Given the description of an element on the screen output the (x, y) to click on. 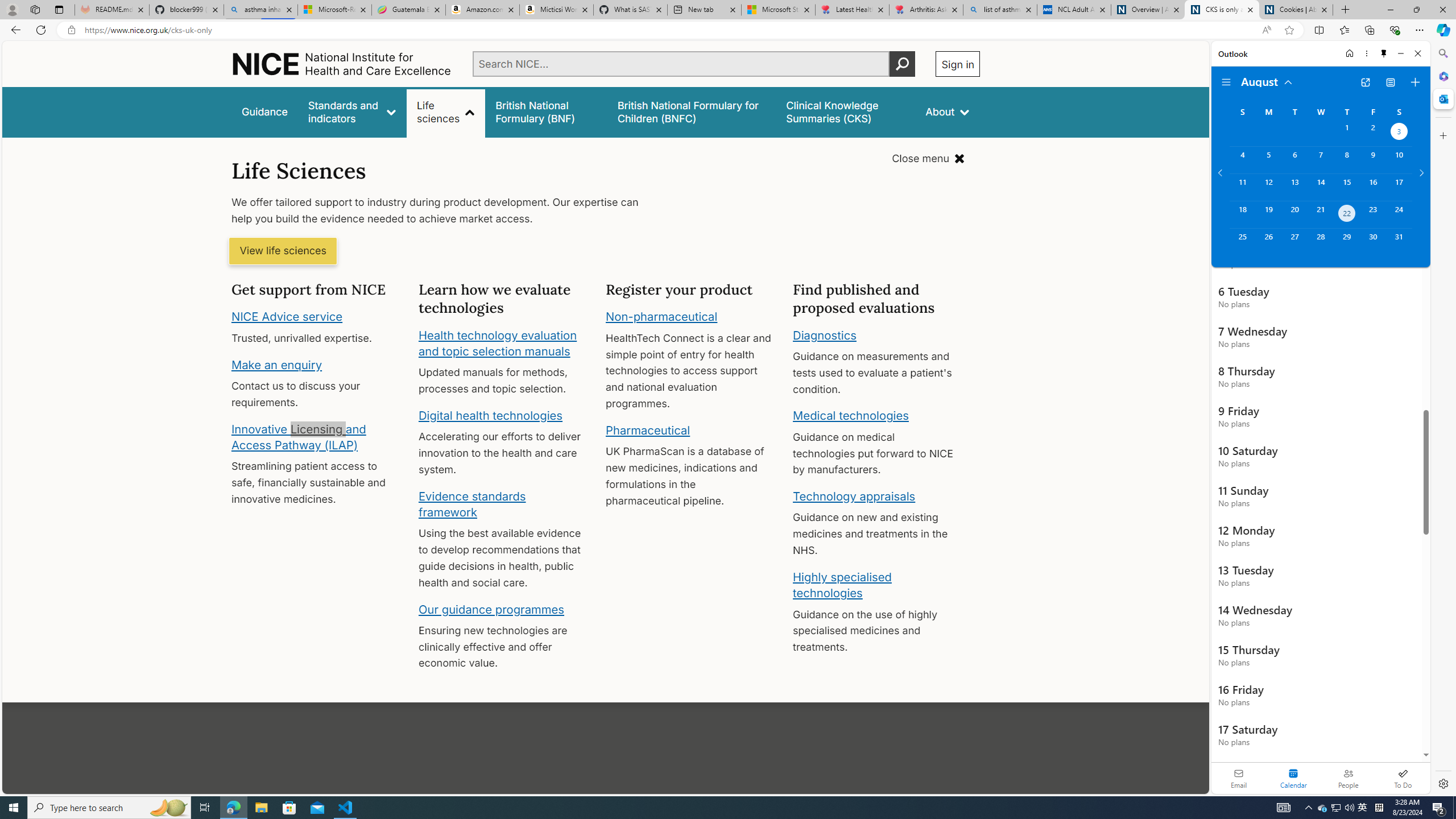
Friday, August 30, 2024.  (1372, 241)
About (947, 111)
Saturday, August 10, 2024.  (1399, 159)
Friday, August 16, 2024.  (1372, 186)
More options (1366, 53)
Guidance (264, 111)
To Do (1402, 777)
Thursday, August 29, 2024.  (1346, 241)
